Given the description of an element on the screen output the (x, y) to click on. 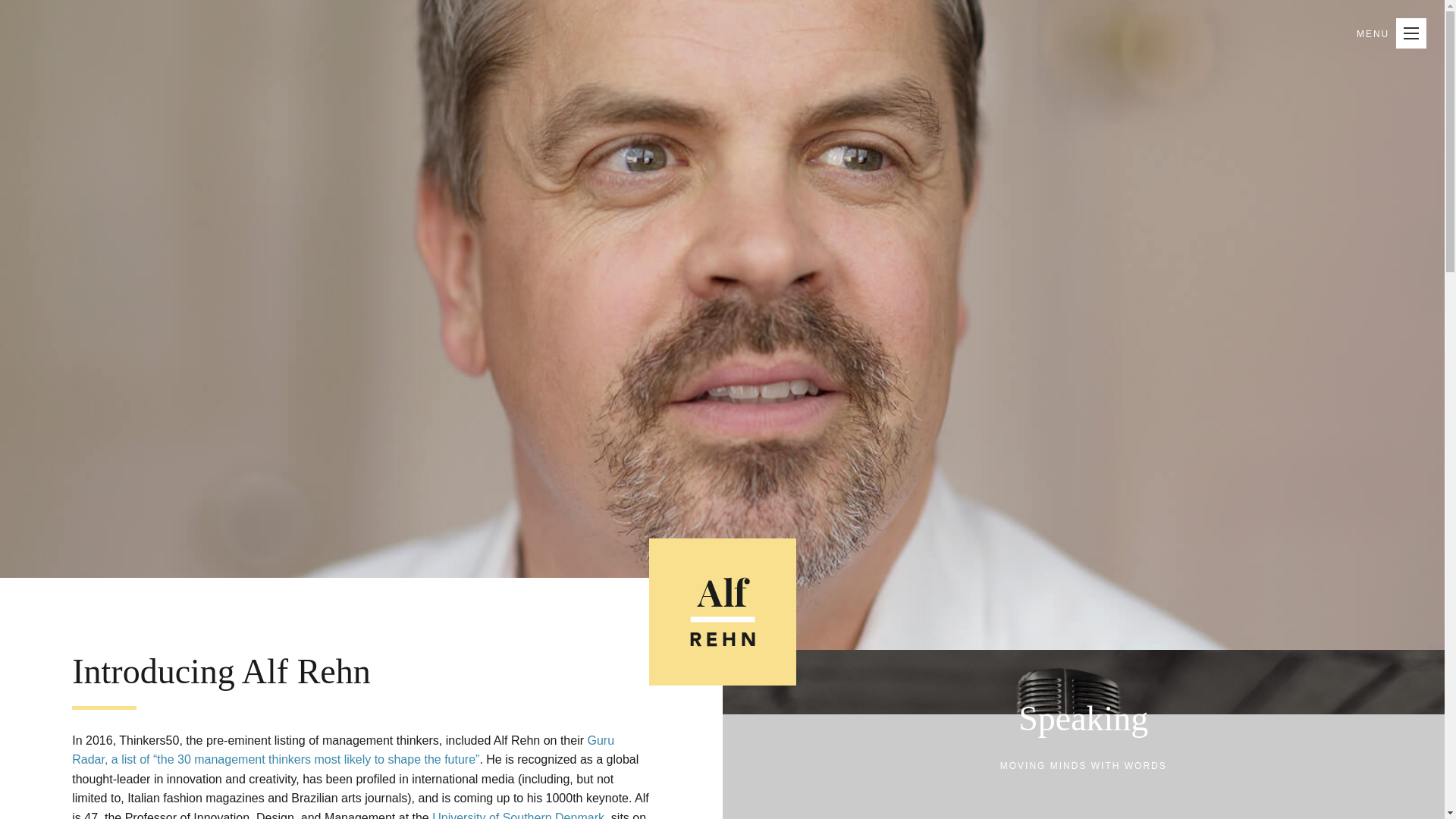
University of Southern Denmark (518, 815)
